Given the description of an element on the screen output the (x, y) to click on. 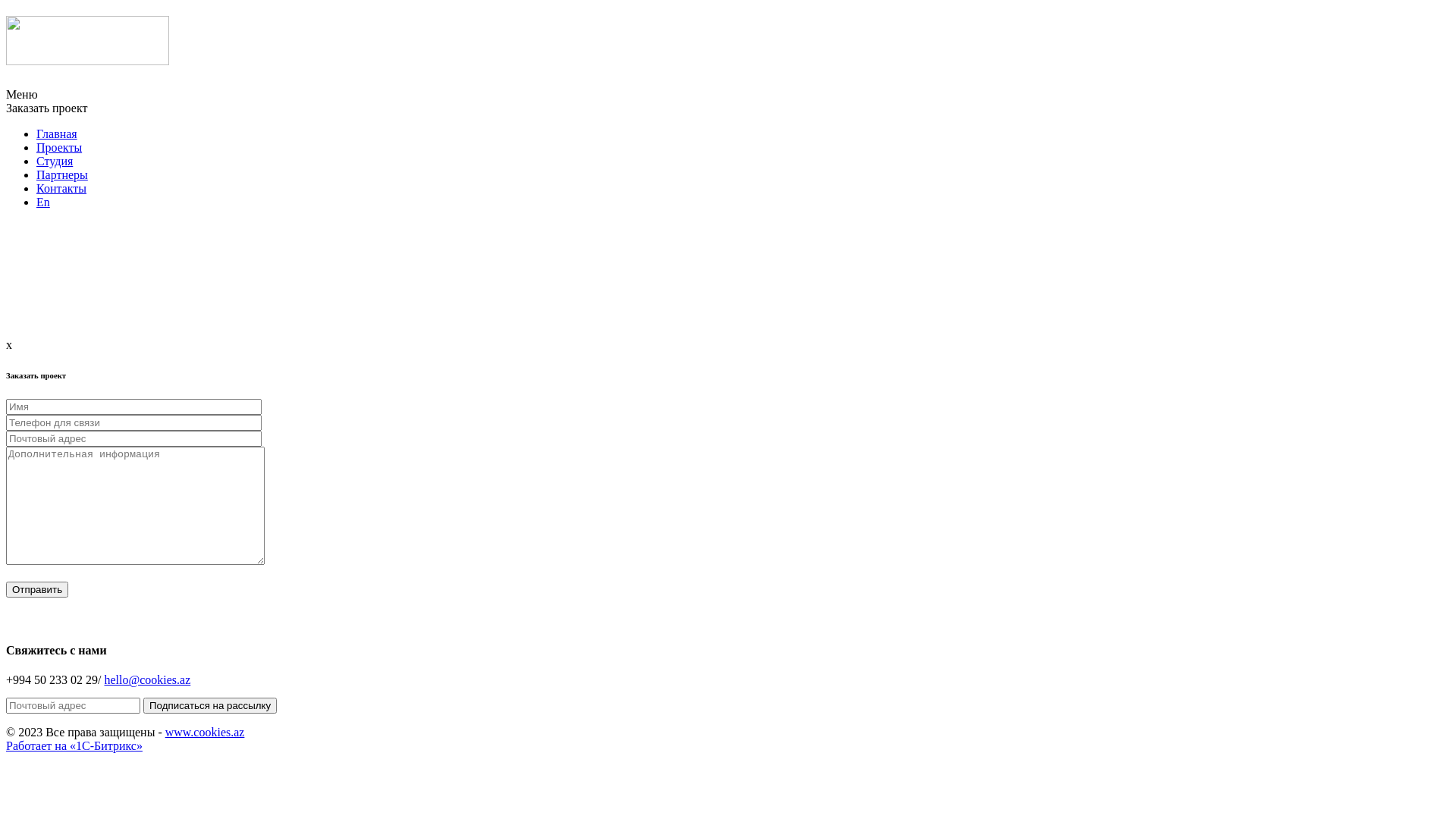
En Element type: text (43, 201)
www.cookies.az Element type: text (204, 731)
hello@cookies.az Element type: text (146, 679)
